Given the description of an element on the screen output the (x, y) to click on. 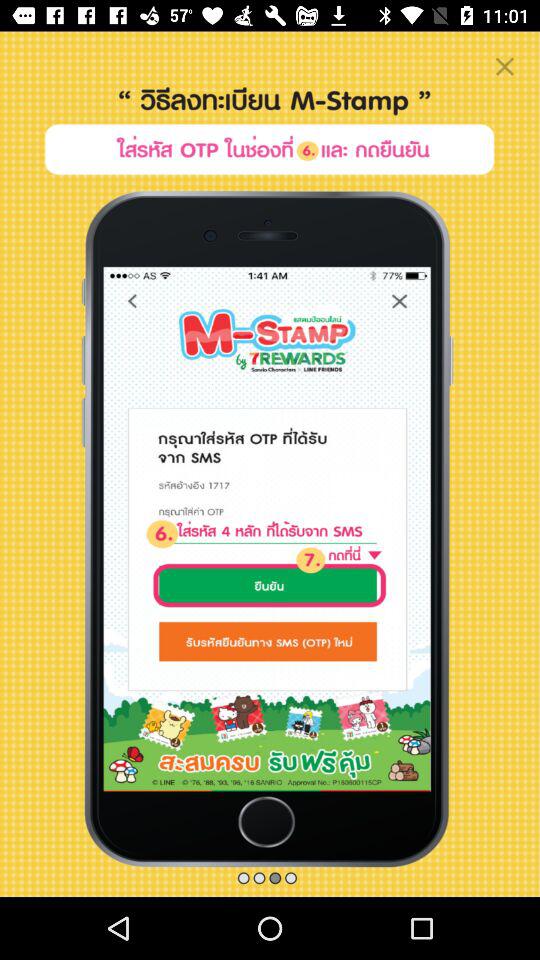
close button (504, 66)
